Given the description of an element on the screen output the (x, y) to click on. 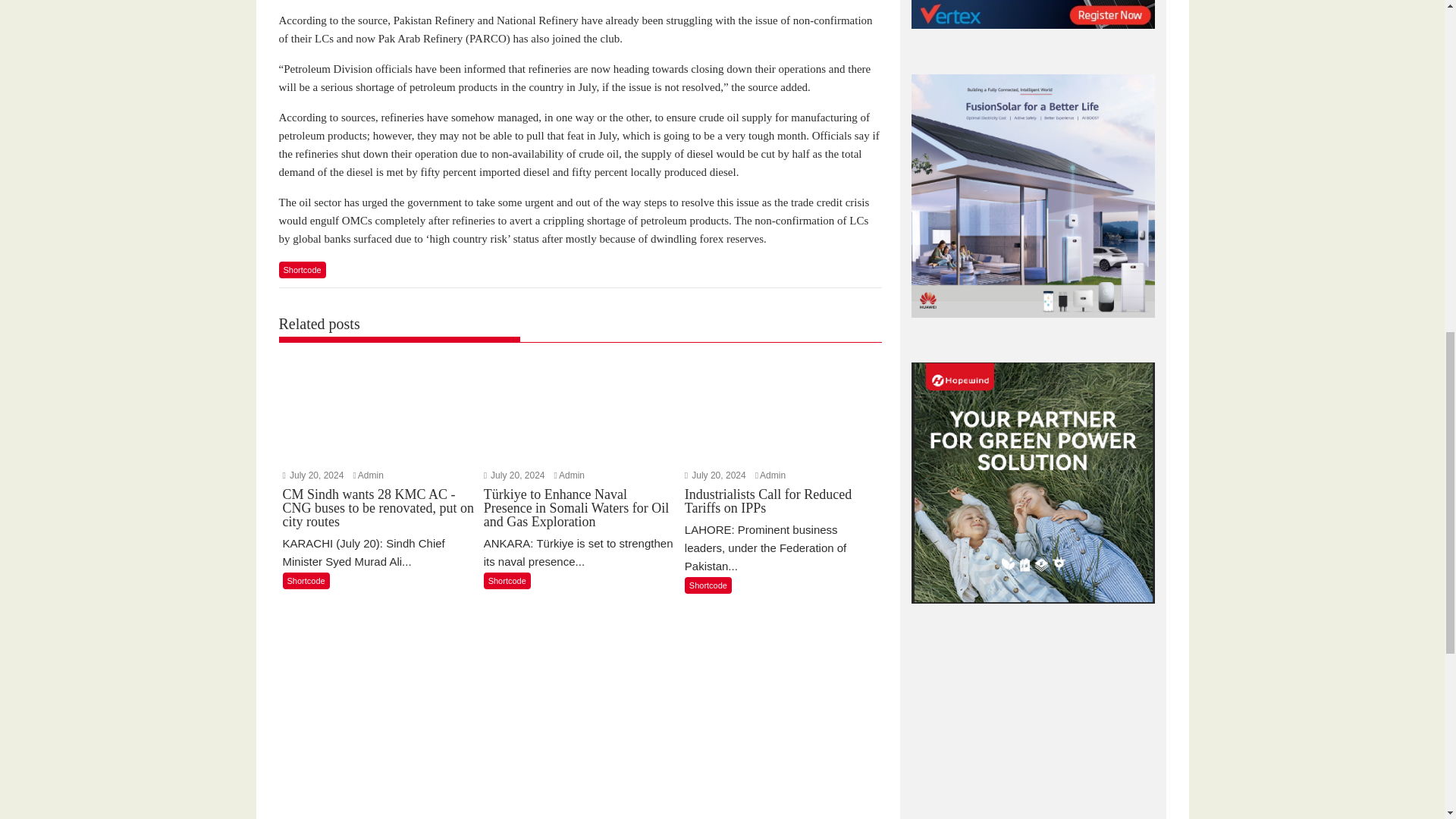
Admin (371, 475)
Admin (773, 475)
Admin (572, 475)
